Given the description of an element on the screen output the (x, y) to click on. 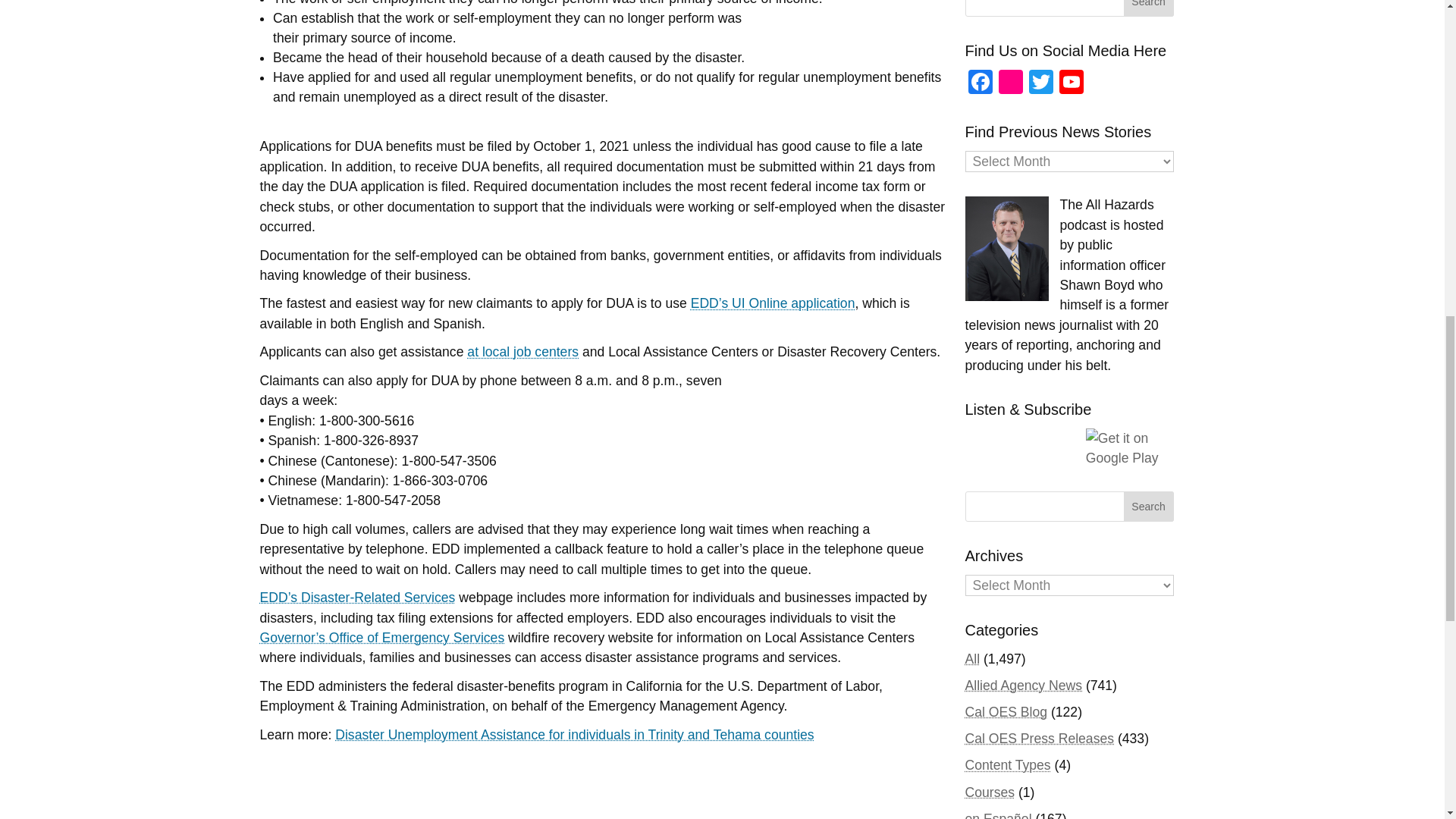
Flickr (1009, 83)
Search (1148, 8)
Facebook (978, 83)
at local job centers (522, 351)
Search (1148, 506)
